Given the description of an element on the screen output the (x, y) to click on. 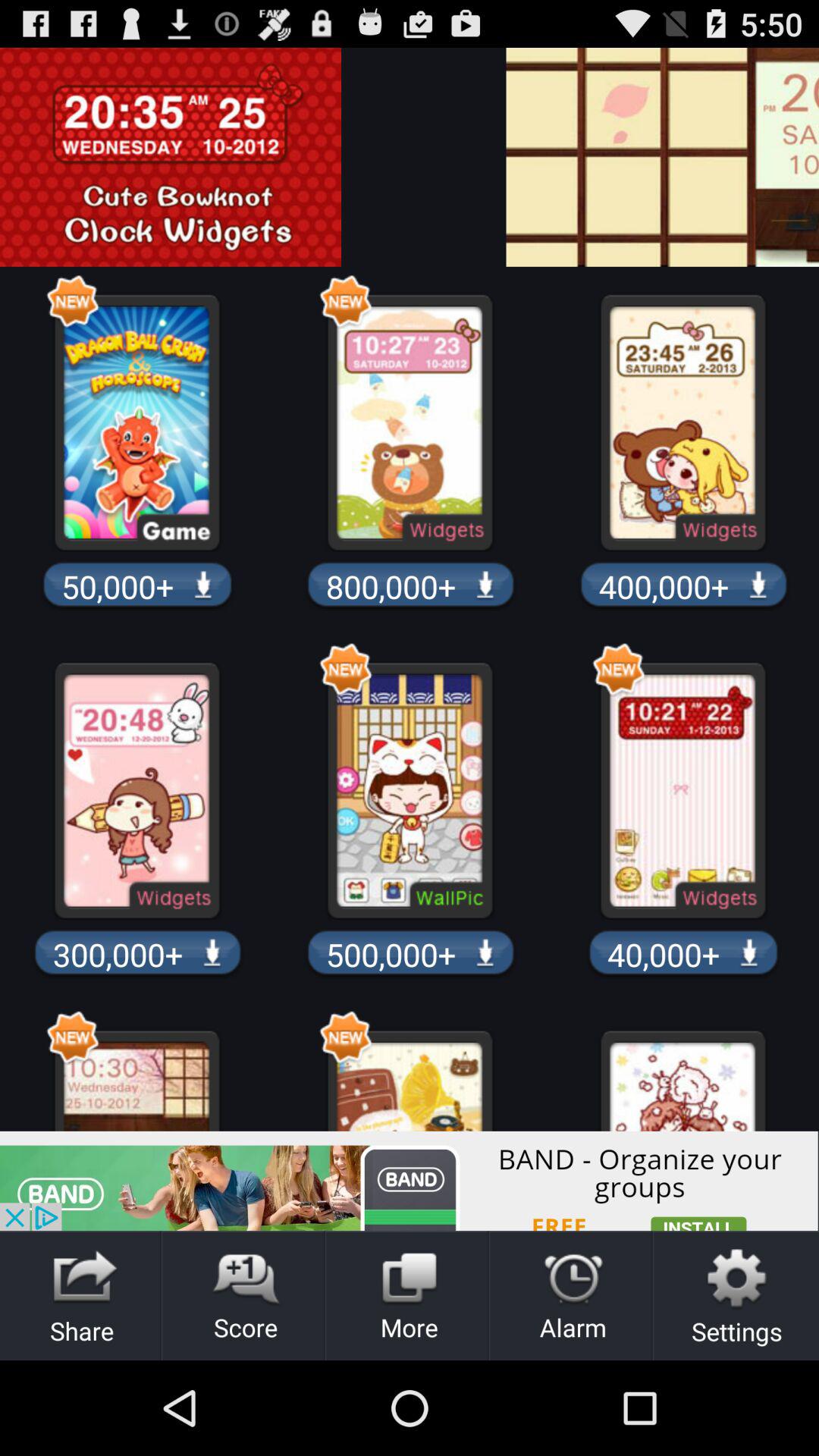
open advertisement (409, 1180)
